Given the description of an element on the screen output the (x, y) to click on. 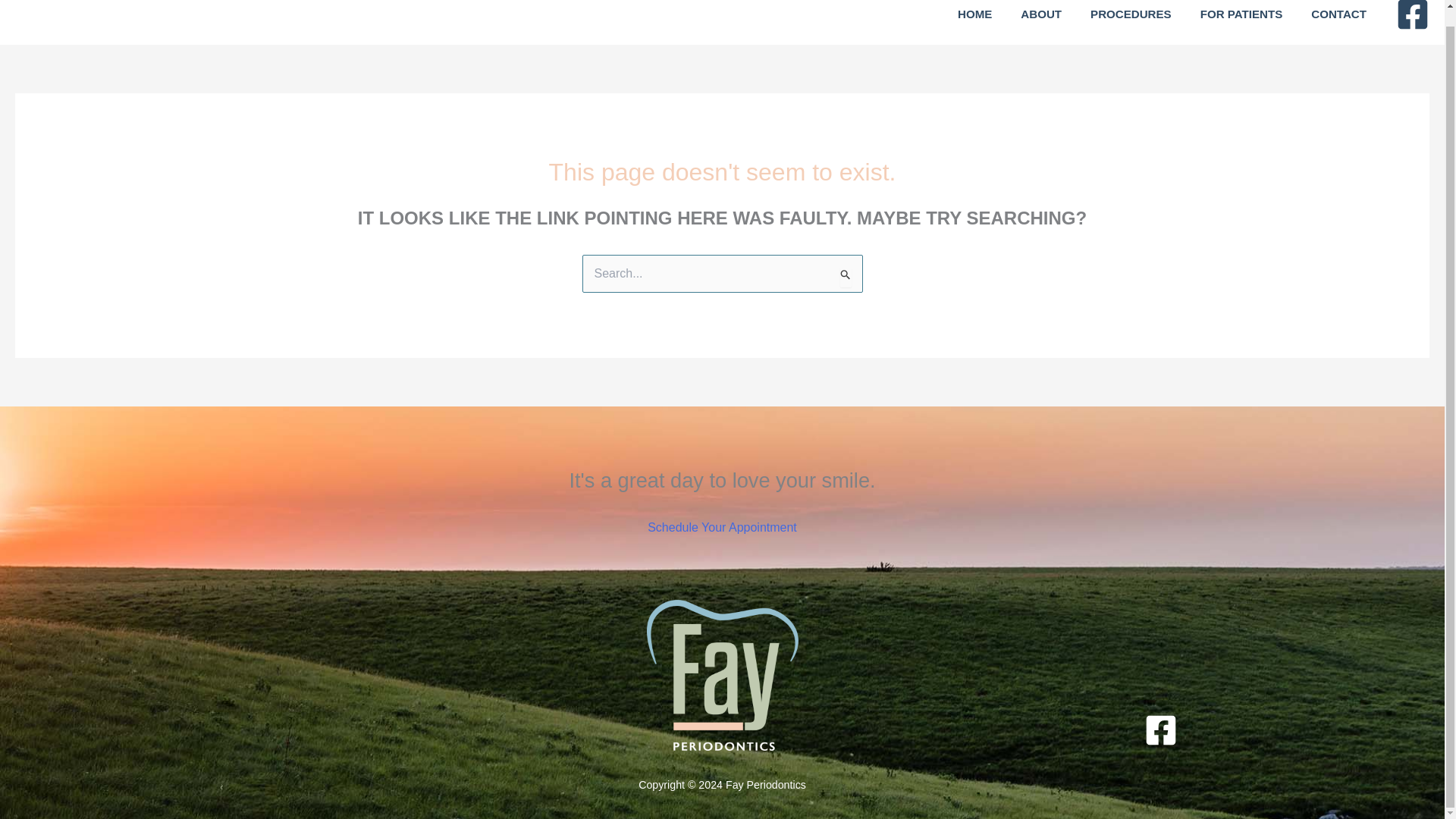
FOR PATIENTS (1241, 15)
Schedule Your Appointment (721, 526)
ABOUT (1040, 15)
HOME (975, 15)
PROCEDURES (1131, 15)
CONTACT (1338, 15)
